Given the description of an element on the screen output the (x, y) to click on. 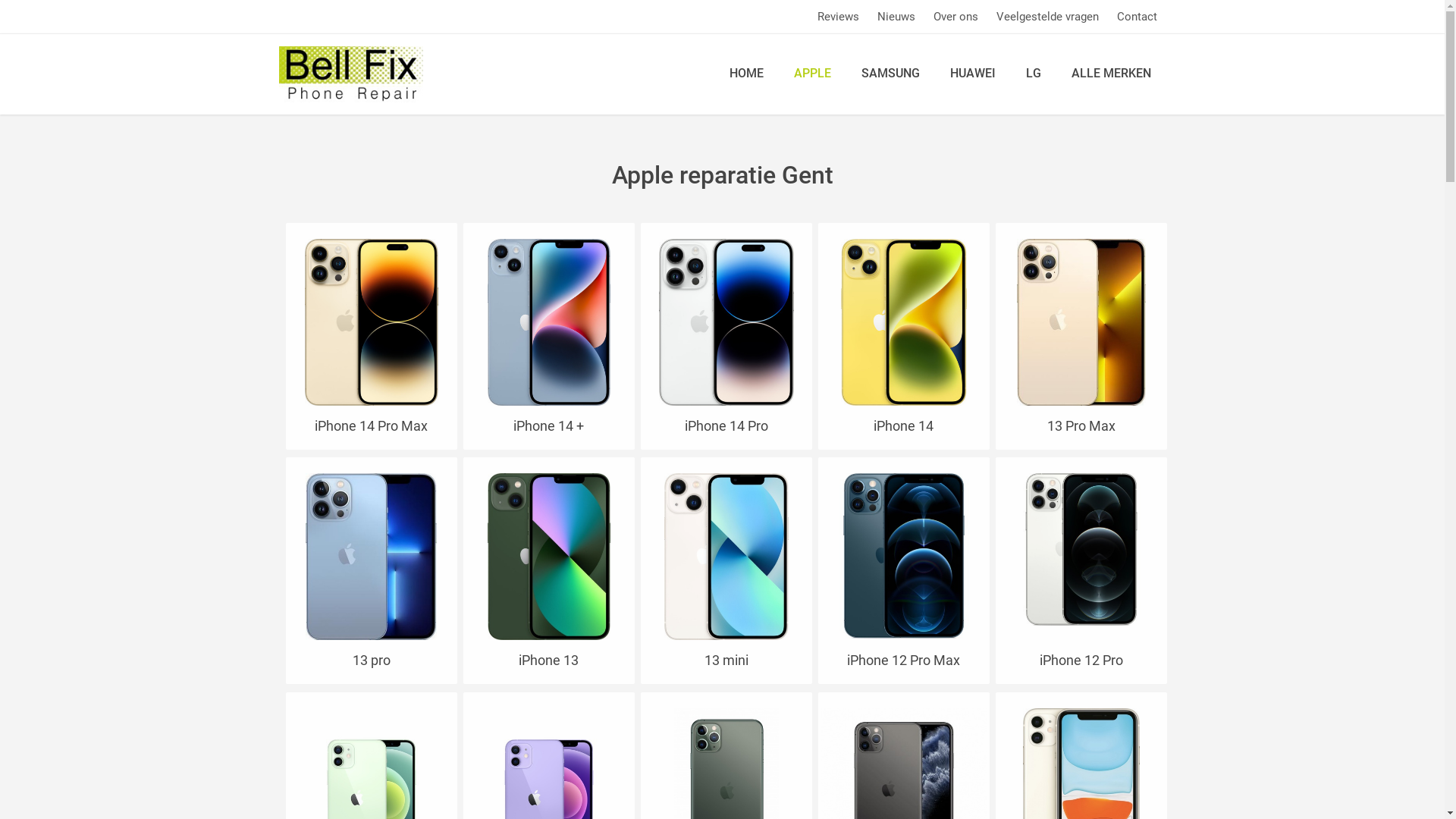
Apple Element type: hover (726, 321)
13 pro Element type: text (371, 660)
Apple Element type: hover (548, 321)
HOME Element type: text (746, 73)
Apple Element type: hover (1081, 549)
Apple Element type: hover (548, 556)
Contact Element type: text (1136, 16)
APPLE Element type: text (811, 73)
SAMSUNG Element type: text (890, 73)
Apple Element type: hover (903, 321)
iPhone 12 Pro Element type: text (1081, 660)
ALLE MERKEN Element type: text (1110, 73)
iPhone 14 Pro Element type: text (726, 425)
Nieuws Element type: text (895, 16)
13 Pro Max Element type: text (1081, 425)
iPhone 14 Element type: text (903, 425)
Veelgestelde vragen Element type: text (1047, 16)
LG Element type: text (1032, 73)
Reviews Element type: text (838, 16)
Apple Element type: hover (370, 556)
iPhone 14 + Element type: text (548, 425)
13 mini Element type: text (726, 660)
HUAWEI Element type: text (972, 73)
iPhone 14 Pro Max Element type: text (370, 425)
Apple Element type: hover (726, 556)
Apple Element type: hover (1080, 321)
Apple Element type: hover (903, 555)
iPhone 13 Element type: text (548, 660)
iPhone 12 Pro Max Element type: text (903, 660)
Apple Element type: hover (371, 321)
Over ons Element type: text (954, 16)
